Given the description of an element on the screen output the (x, y) to click on. 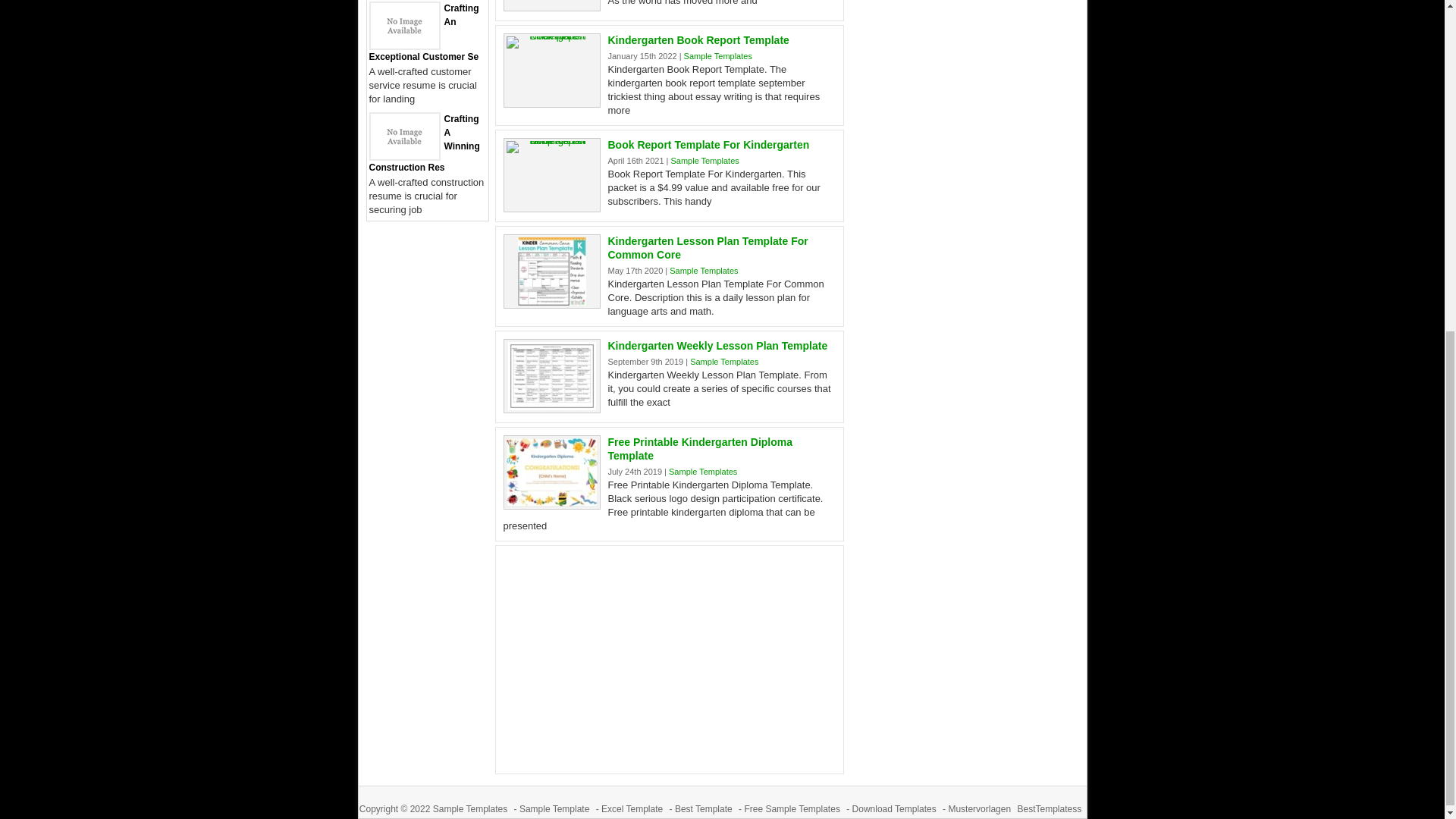
Kindergarten Lesson Plan Template For Common Core (708, 248)
Kindergarten Weekly Lesson Plan Template (551, 406)
Kindergarten Book Report Template (698, 39)
Sample Templates (703, 270)
Sample Templates (718, 55)
Free Printable Kindergarten Diploma Template (700, 448)
Kindergarten Weekly Lesson Plan Template (718, 345)
Free Printable Kindergarten Diploma Template (551, 502)
Free Printable Kindergarten Diploma Template (700, 448)
Sample Templates (703, 160)
Sample Templates (702, 470)
Kindergarten Lesson Plan Template For Common Core (708, 248)
Sample Templates (724, 361)
Book Report Template For Kindergarten (708, 144)
Book Report Template For Kindergarten (708, 144)
